Given the description of an element on the screen output the (x, y) to click on. 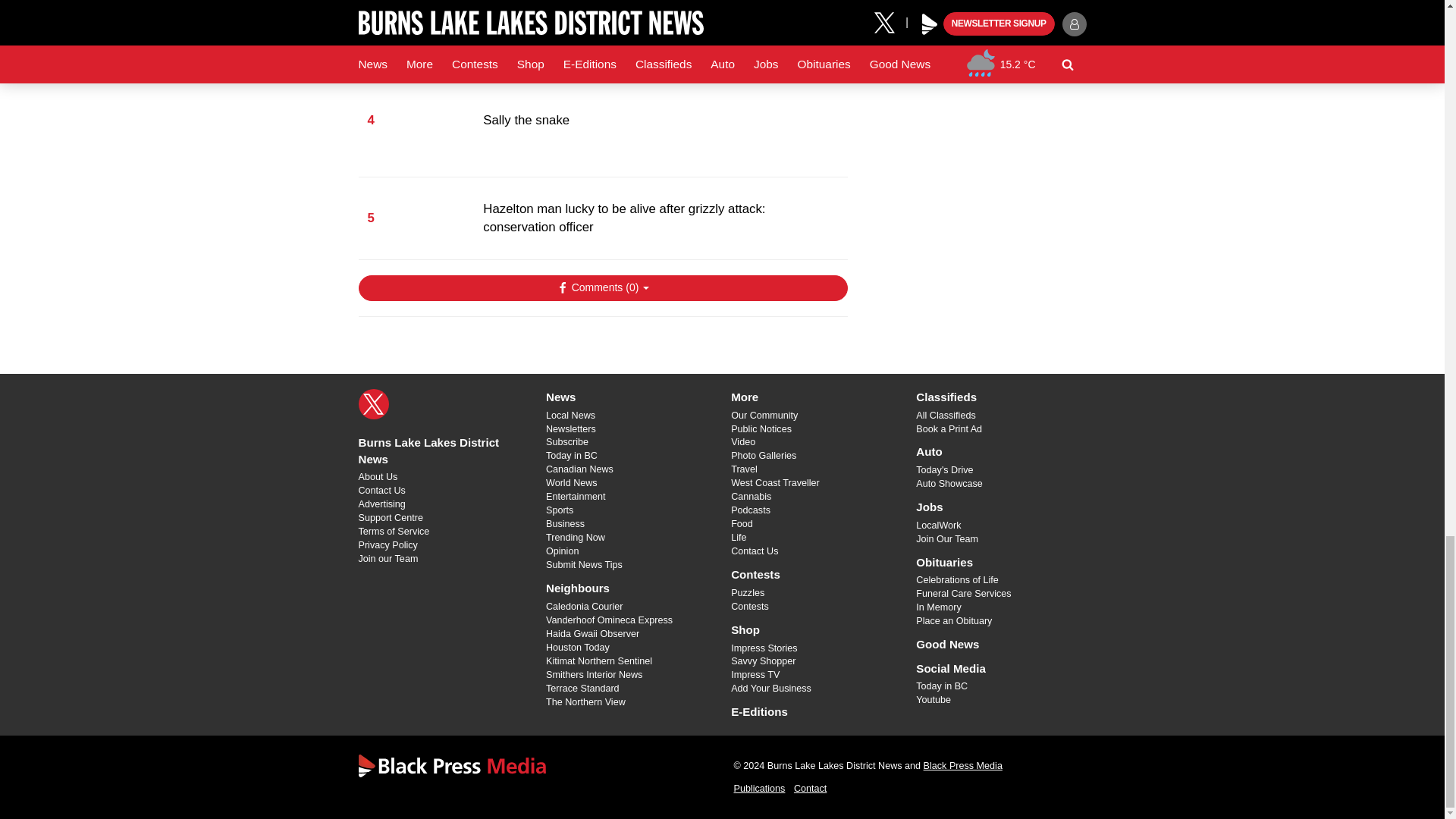
Show Comments (602, 288)
X (373, 404)
